Given the description of an element on the screen output the (x, y) to click on. 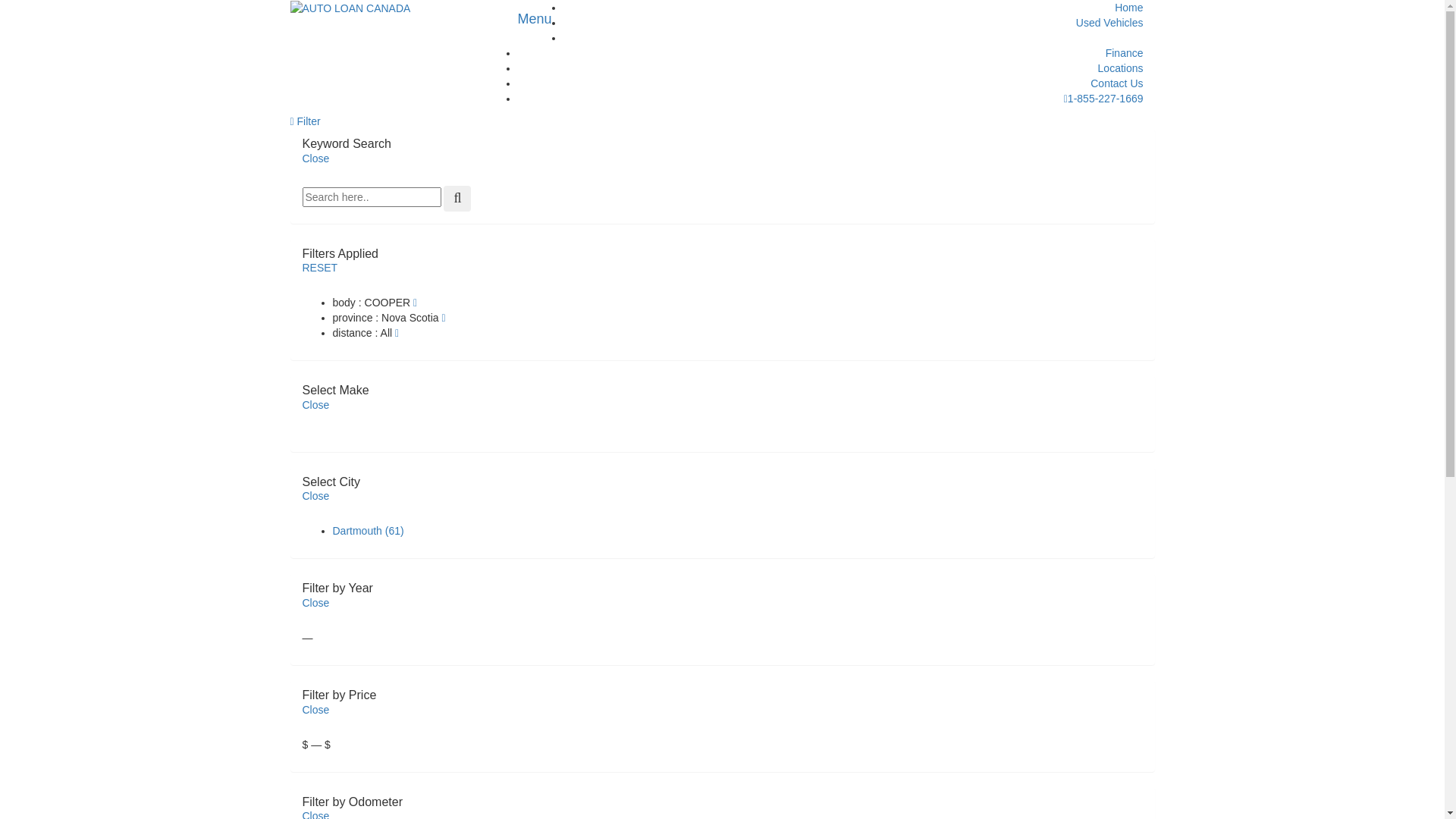
Close Element type: text (315, 709)
Dartmouth (61) Element type: text (367, 530)
Filter Element type: text (304, 121)
Close Element type: text (315, 602)
Used Vehicles Element type: text (1109, 22)
Locations Element type: text (1120, 68)
1-855-227-1669 Element type: text (1103, 98)
Close Element type: text (315, 495)
Home Element type: text (1128, 7)
Close Element type: text (315, 404)
RESET Element type: text (319, 267)
Menu Element type: text (534, 18)
Contact Us Element type: text (1116, 83)
Close Element type: text (315, 158)
AUTO LOAN CANADA Element type: hover (349, 7)
Finance Element type: text (1124, 53)
